Given the description of an element on the screen output the (x, y) to click on. 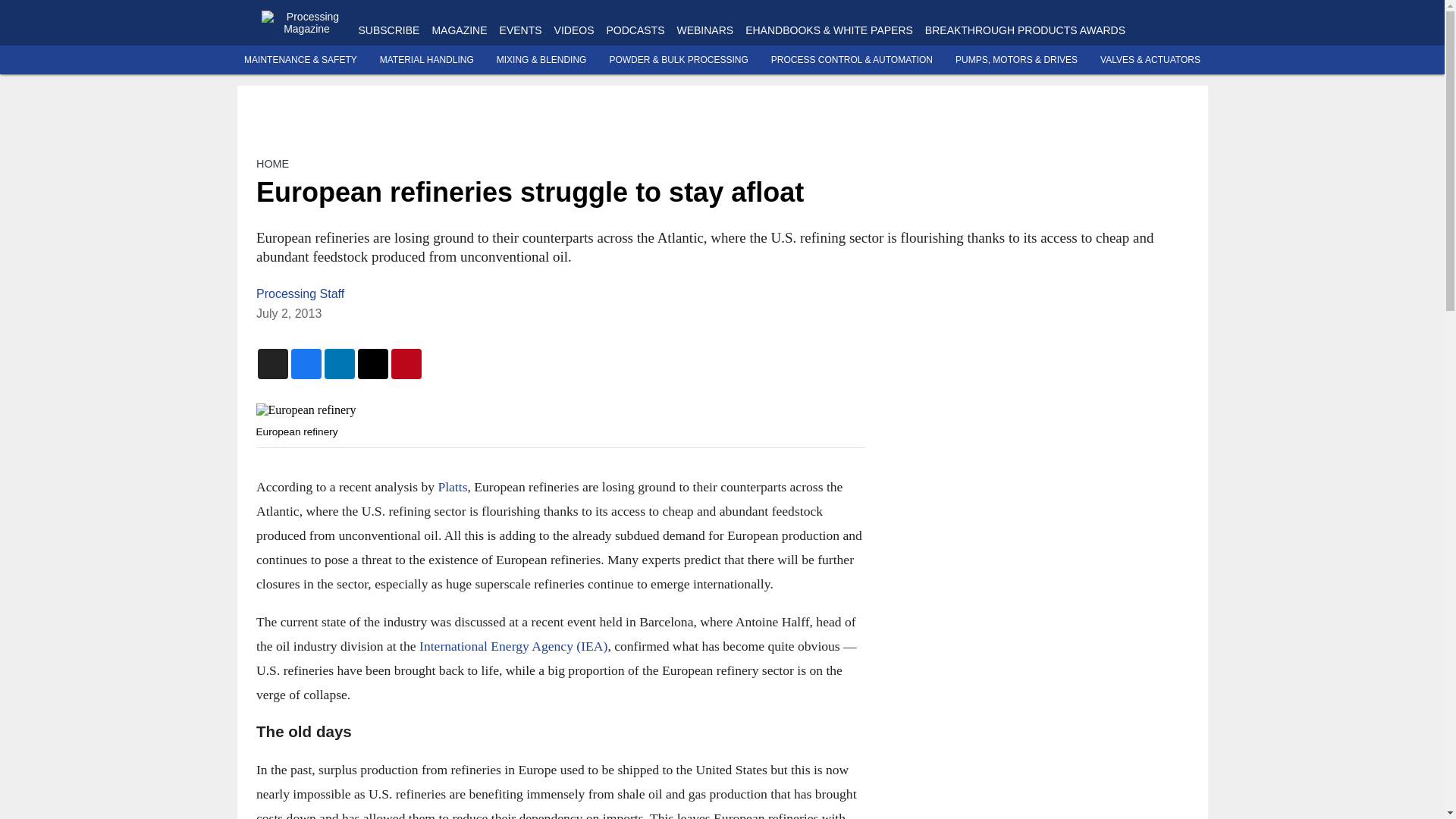
European refinery (560, 409)
EVENTS (520, 30)
WEBINARS (705, 30)
HOME (272, 163)
SUBSCRIBE (388, 30)
MAGAZINE (458, 30)
MATERIAL HANDLING (427, 59)
Platts (452, 486)
VIDEOS (574, 30)
BREAKTHROUGH PRODUCTS AWARDS (1024, 30)
